Given the description of an element on the screen output the (x, y) to click on. 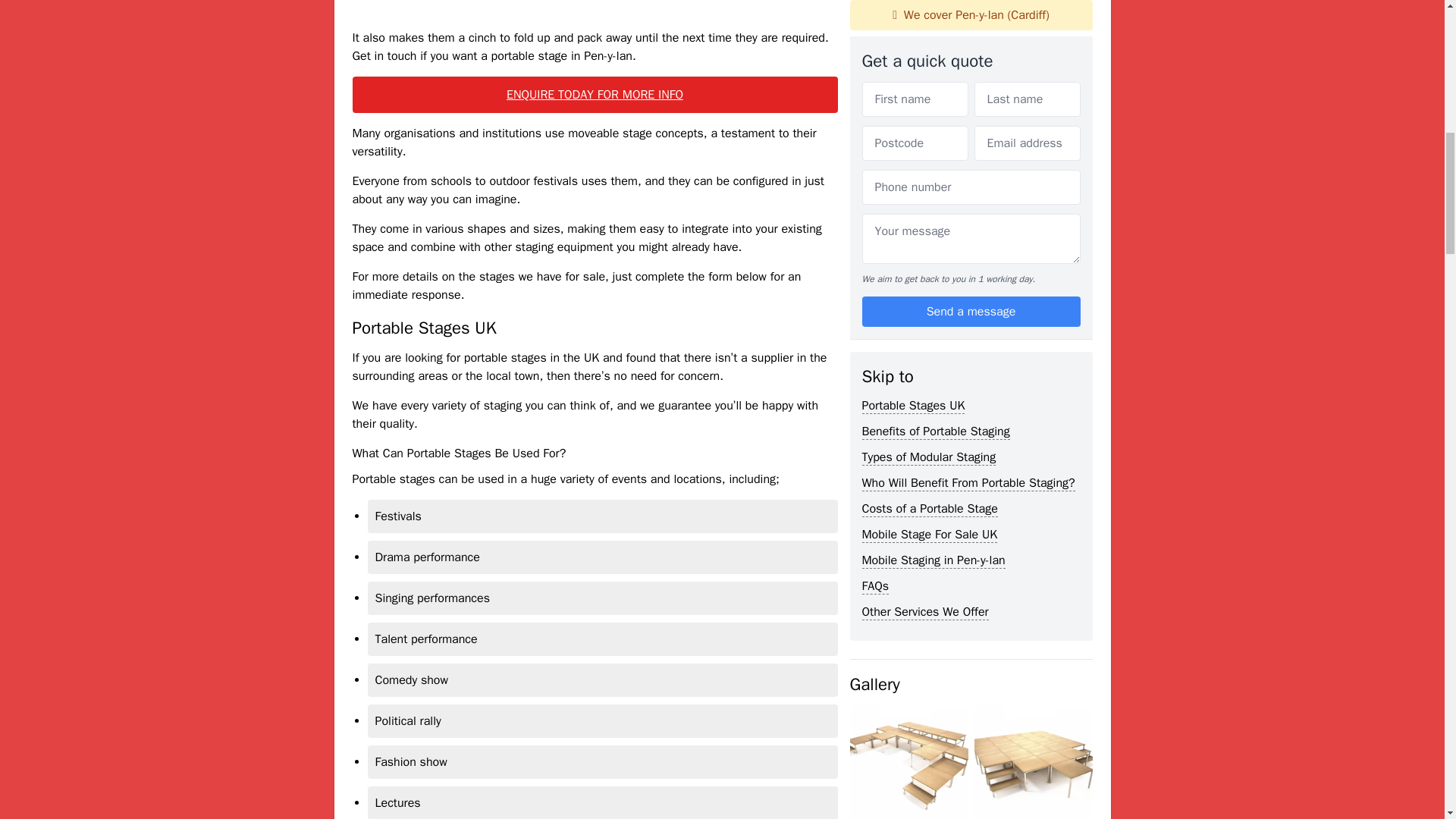
Types of Modular Staging (928, 57)
Types of Modular Staging (928, 57)
Benefits of Portable Staging (935, 32)
Mobile Stage For Sale UK (929, 135)
ENQUIRE TODAY FOR MORE INFO (594, 94)
Portable Stages UK (912, 7)
Other Services We Offer (924, 212)
Benefits of Portable Staging (935, 32)
Who Will Benefit From Portable Staging? (967, 83)
Mobile Staging in Pen-y-lan (932, 160)
Who Will Benefit From Portable Staging? (967, 83)
FAQs (874, 186)
Portable Stages UK (912, 7)
Costs of a Portable Stage (929, 109)
